Given the description of an element on the screen output the (x, y) to click on. 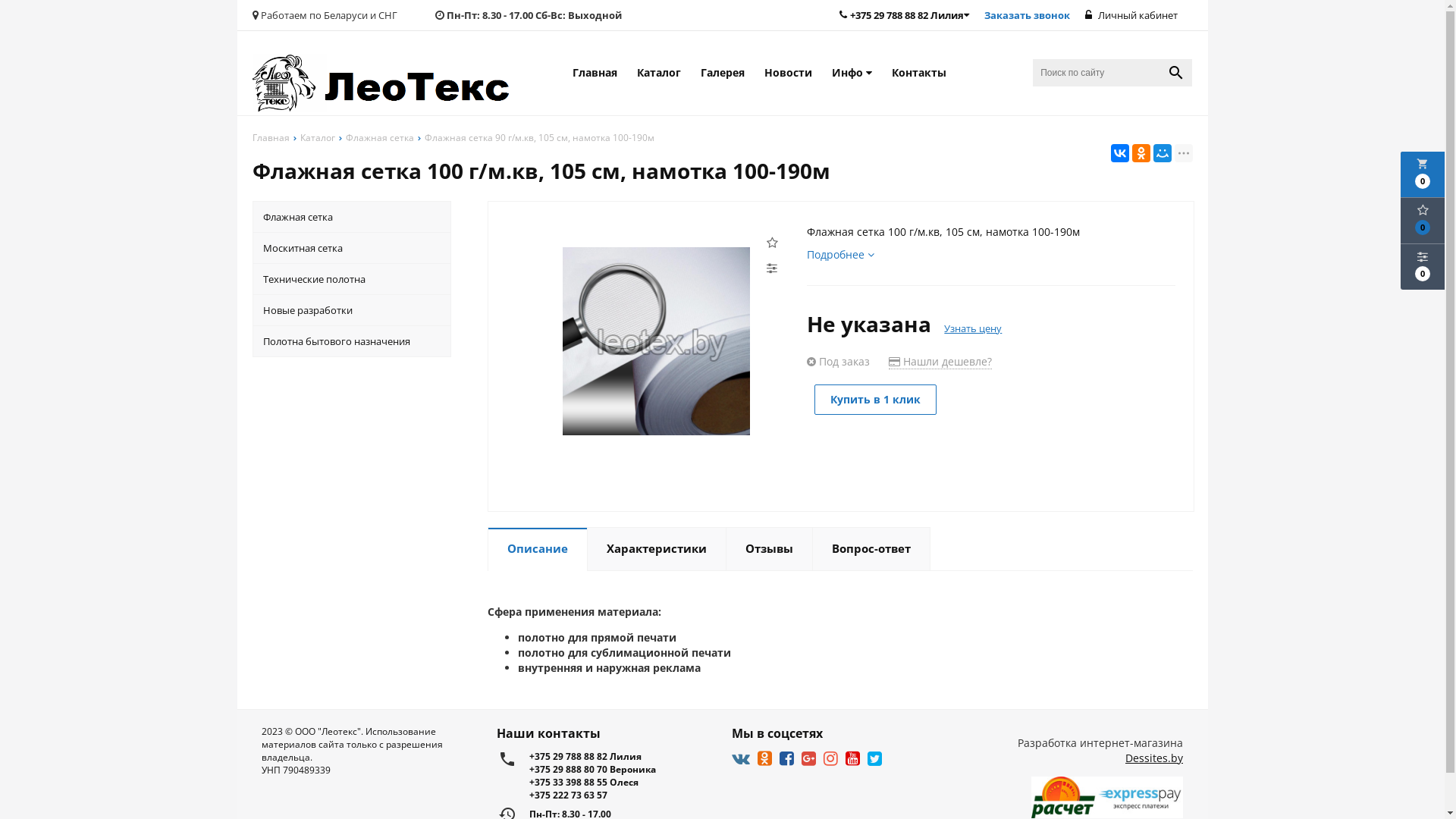
+375 222 73 63 57 Element type: text (620, 794)
local_grocery_store
0 Element type: text (1422, 174)
0 Element type: text (1422, 266)
0 Element type: text (1422, 220)
Dessites.by Element type: text (1154, 757)
search Element type: text (1176, 72)
